Given the description of an element on the screen output the (x, y) to click on. 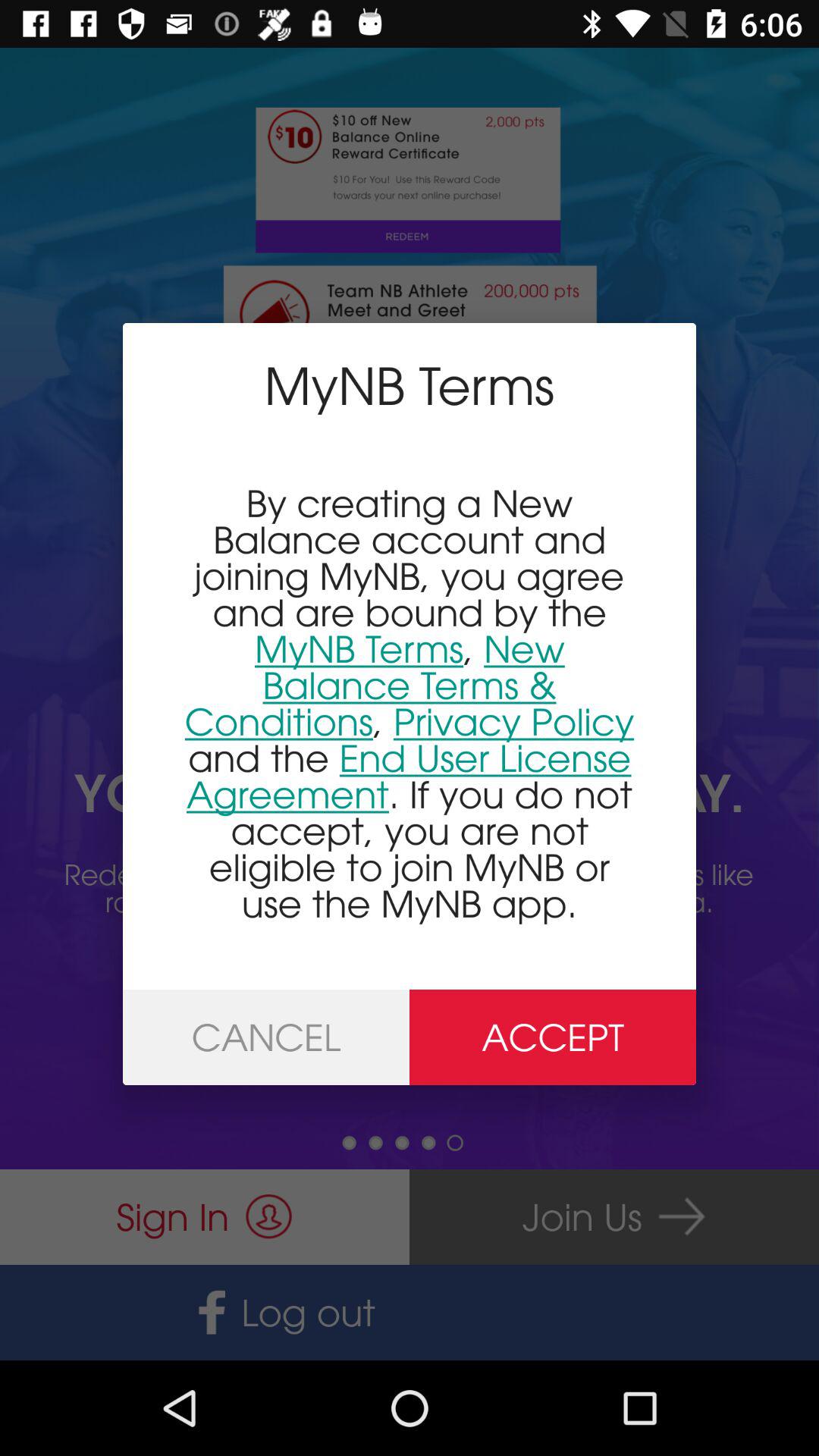
jump to cancel icon (265, 1037)
